Given the description of an element on the screen output the (x, y) to click on. 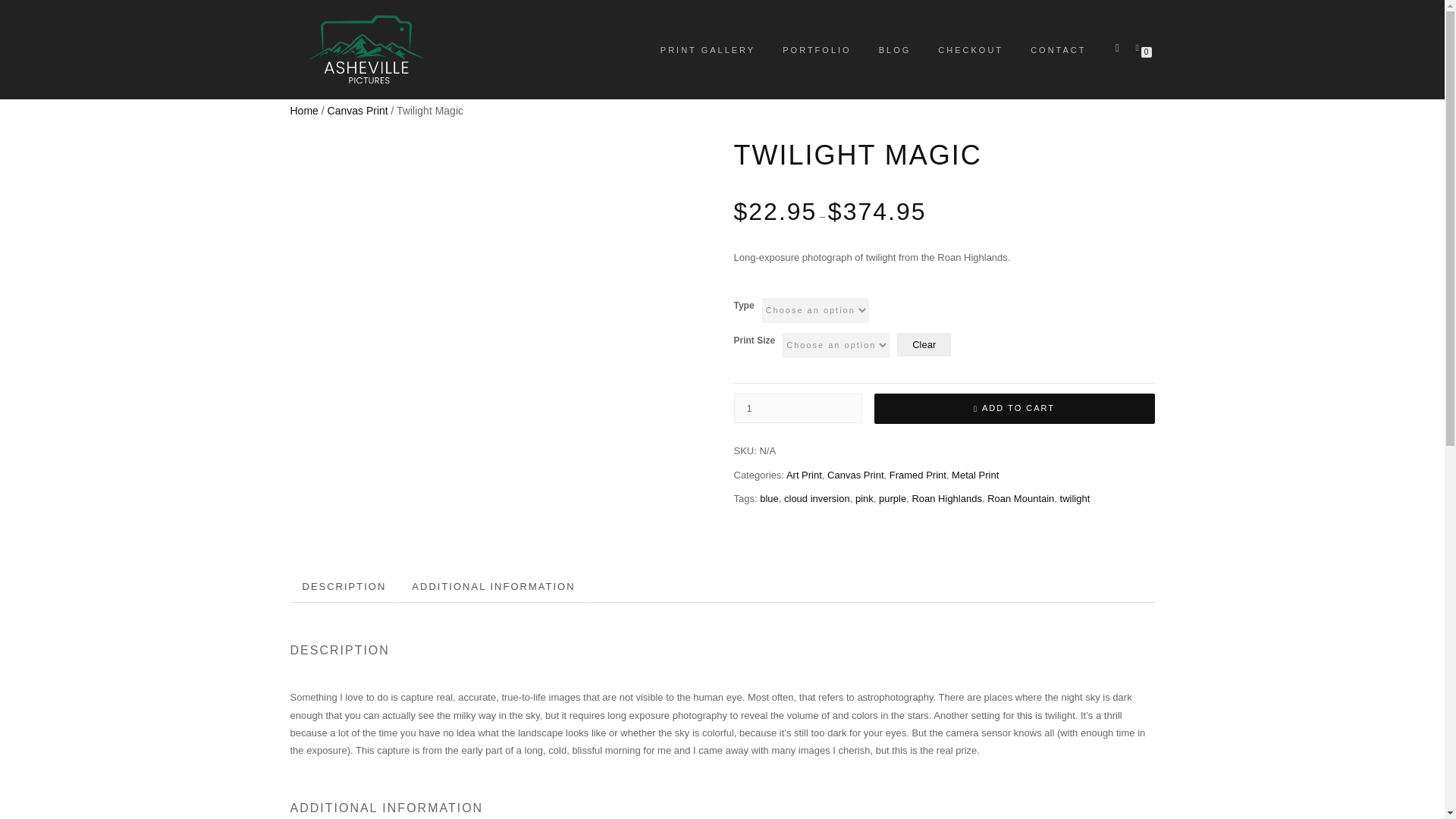
pink (864, 498)
Qty (798, 408)
twilight (1074, 498)
Clear (923, 344)
1 (798, 408)
Canvas Print (855, 474)
Art Print (804, 474)
Roan Mountain (1020, 498)
ADD TO CART (1013, 408)
ADDITIONAL INFORMATION (492, 586)
